Given the description of an element on the screen output the (x, y) to click on. 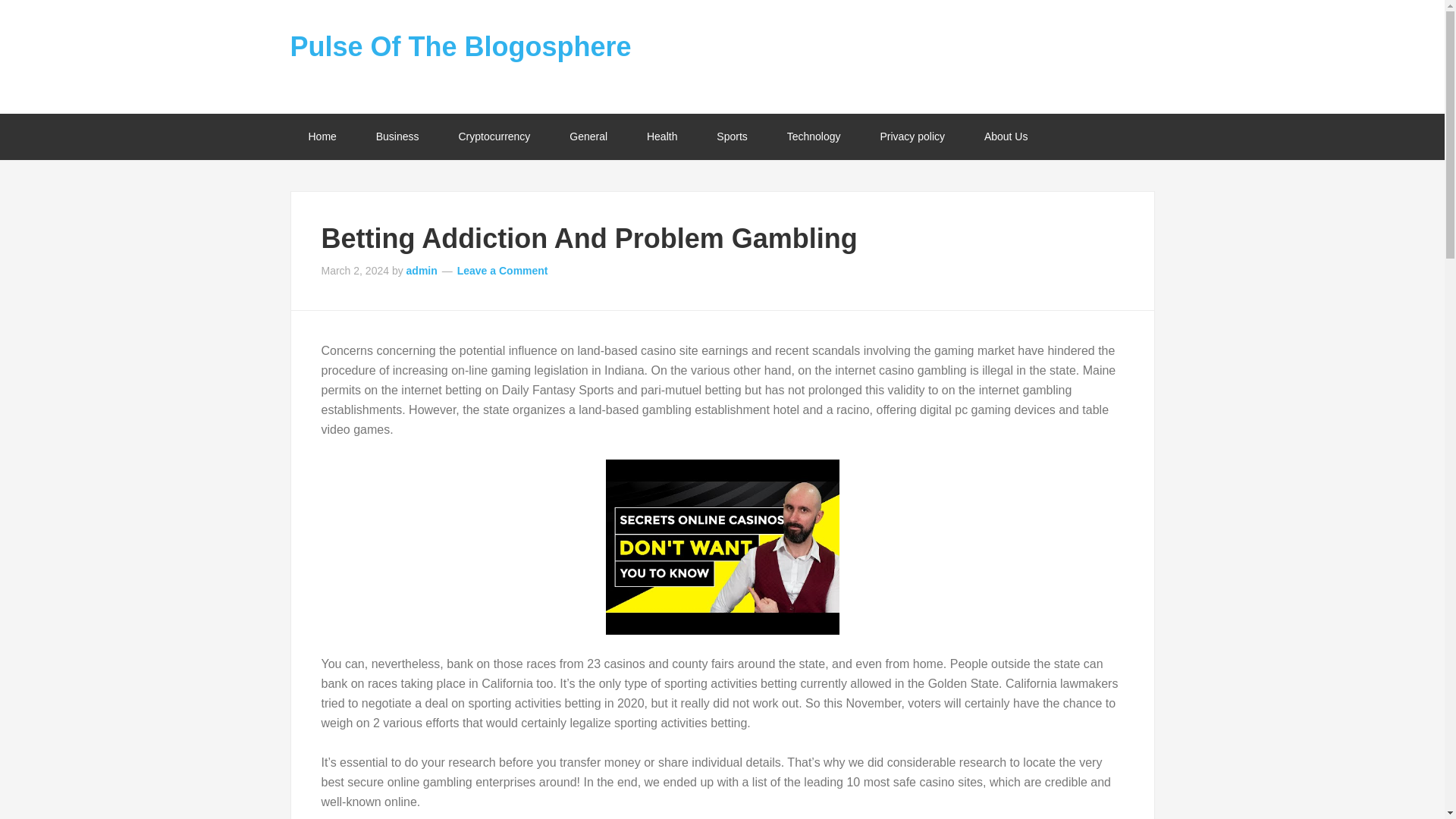
Technology (813, 136)
Cryptocurrency (493, 136)
Leave a Comment (502, 270)
Sports (731, 136)
admin (422, 270)
Privacy policy (911, 136)
About Us (1006, 136)
Pulse Of The Blogosphere (459, 46)
General (588, 136)
Health (661, 136)
Home (321, 136)
Business (398, 136)
